Given the description of an element on the screen output the (x, y) to click on. 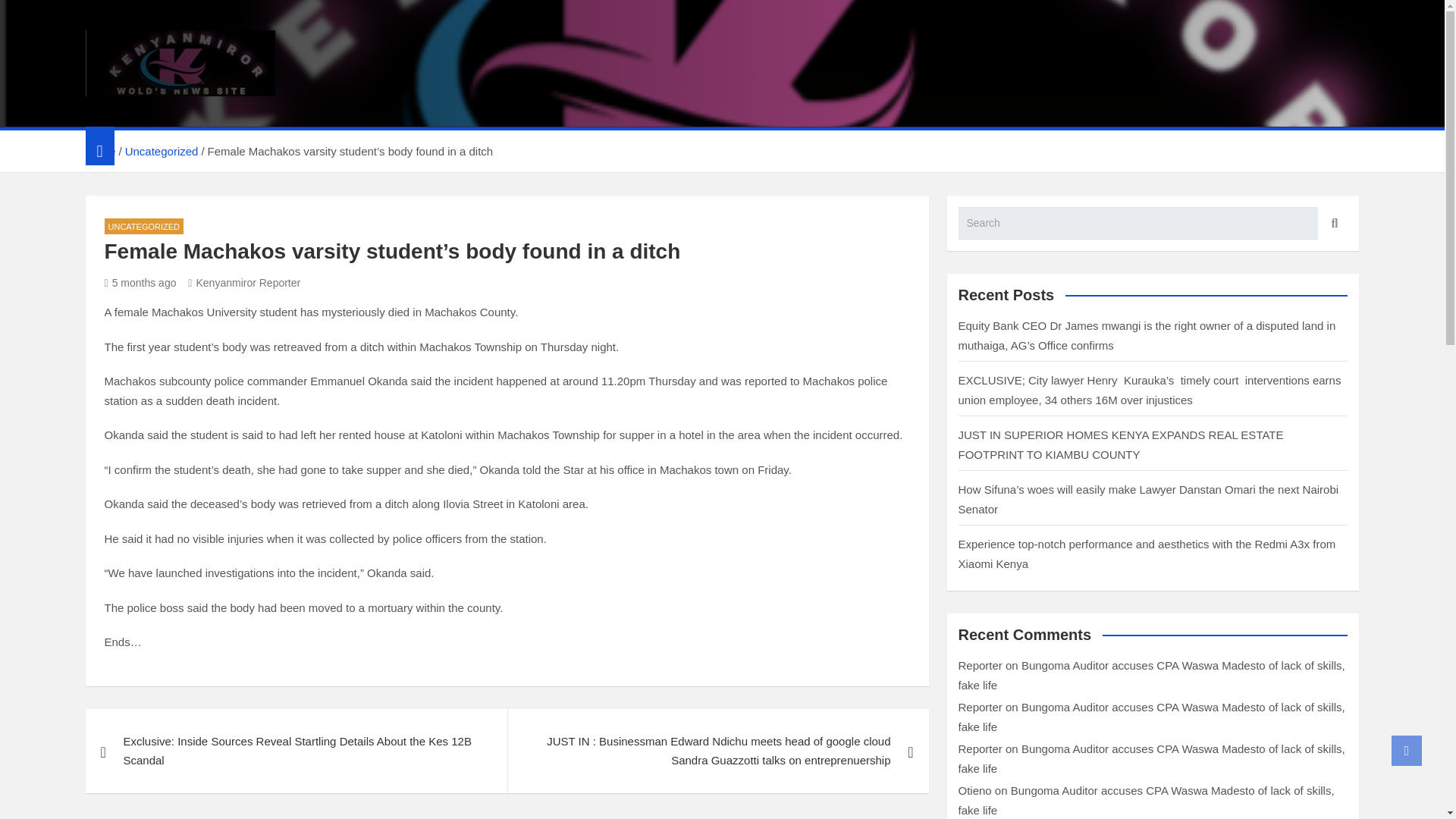
Search (1332, 223)
Go to Top (1406, 750)
Kenyanmiror Reporter (243, 282)
Kenyanmiror KM (205, 115)
5 months ago (140, 282)
Reporter (980, 665)
Reporter (980, 748)
UNCATEGORIZED (144, 226)
Home (99, 151)
